Given the description of an element on the screen output the (x, y) to click on. 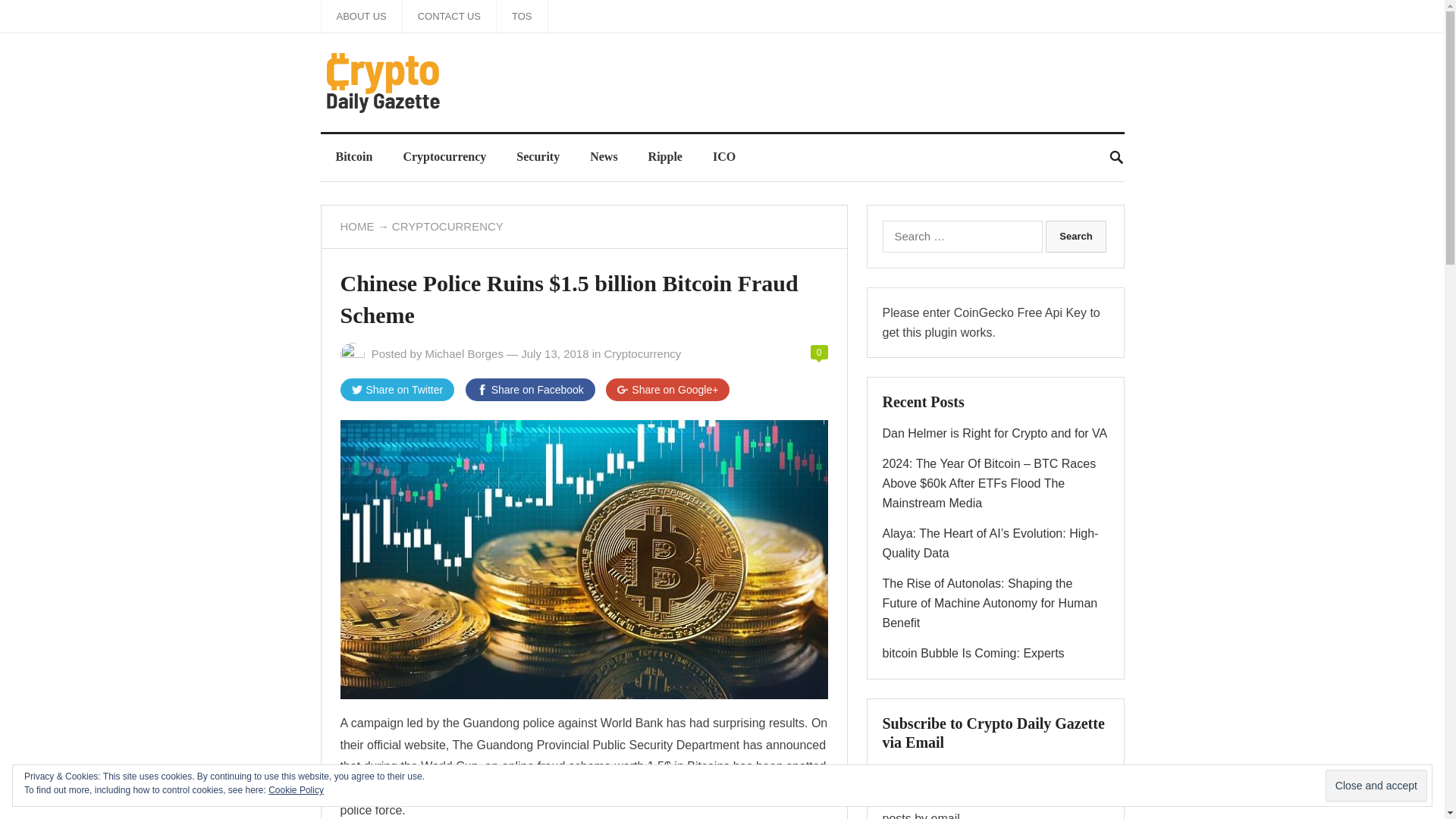
Posts by Michael Borges (464, 353)
News (603, 156)
CONTACT US (449, 16)
TOS (521, 16)
ABOUT US (361, 16)
ICO (724, 156)
Search (1075, 236)
View all posts in Cryptocurrency (642, 353)
Cryptocurrency (642, 353)
0 (819, 351)
HOME (356, 226)
Security (537, 156)
Share on Twitter (396, 389)
Share on Facebook (530, 389)
Michael Borges (464, 353)
